Given the description of an element on the screen output the (x, y) to click on. 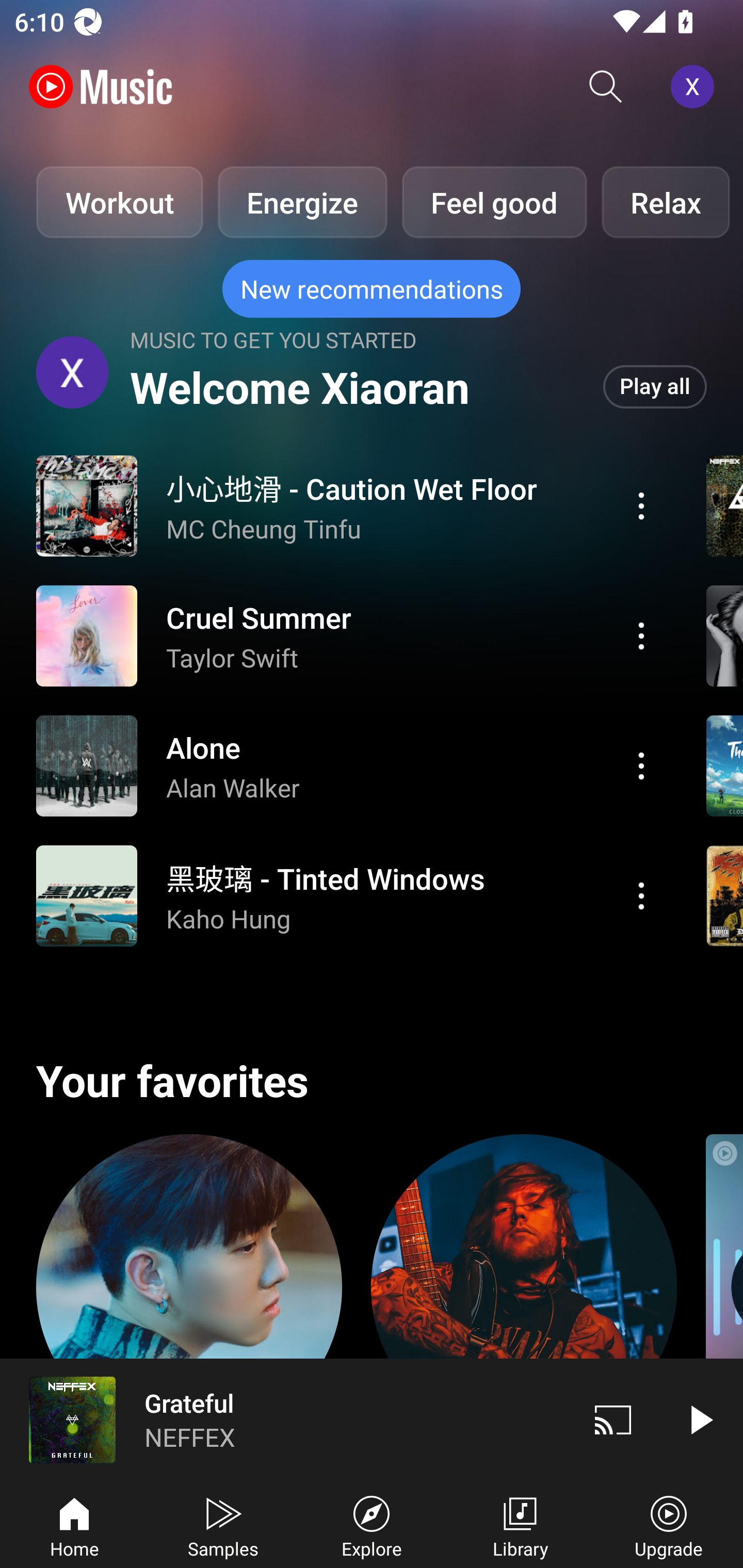
Search (605, 86)
Account (696, 86)
New recommendations (371, 289)
Action menu (349, 505)
Action menu (641, 505)
Action menu (349, 635)
Action menu (641, 635)
Action menu (349, 765)
Action menu (641, 765)
Action menu (349, 896)
Action menu (641, 896)
Grateful NEFFEX (284, 1419)
Cast. Disconnected (612, 1419)
Play video (699, 1419)
Home (74, 1524)
Samples (222, 1524)
Explore (371, 1524)
Library (519, 1524)
Upgrade (668, 1524)
